Given the description of an element on the screen output the (x, y) to click on. 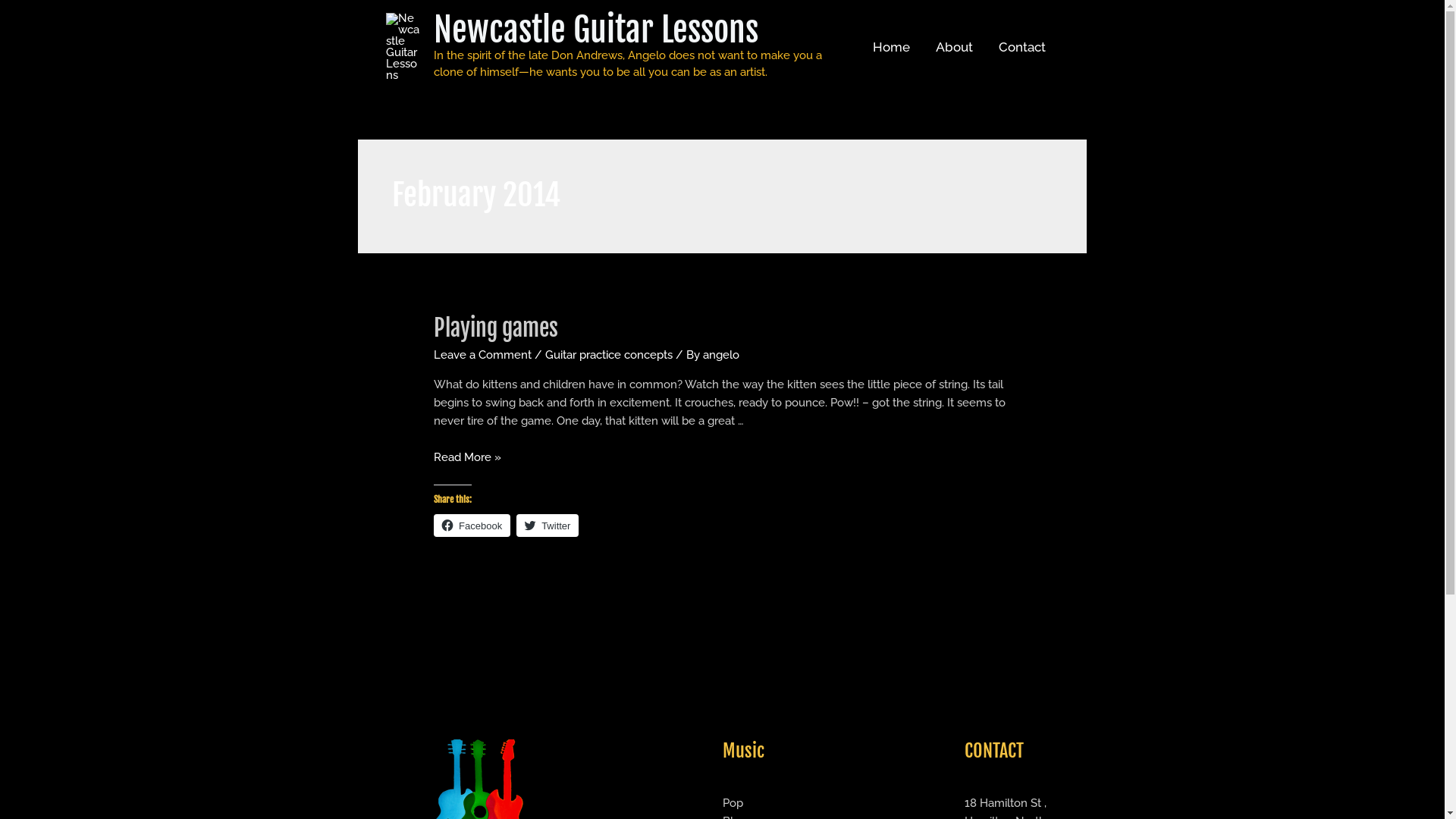
Pop Element type: text (731, 802)
Newcastle Guitar Lessons Element type: text (595, 29)
Home Element type: text (890, 46)
angelo Element type: text (720, 354)
Leave a Comment Element type: text (482, 354)
Twitter Element type: text (547, 525)
Contact Element type: text (1021, 46)
Guitar practice concepts Element type: text (608, 354)
Facebook Element type: text (471, 525)
Playing games Element type: text (495, 327)
About Element type: text (953, 46)
